Given the description of an element on the screen output the (x, y) to click on. 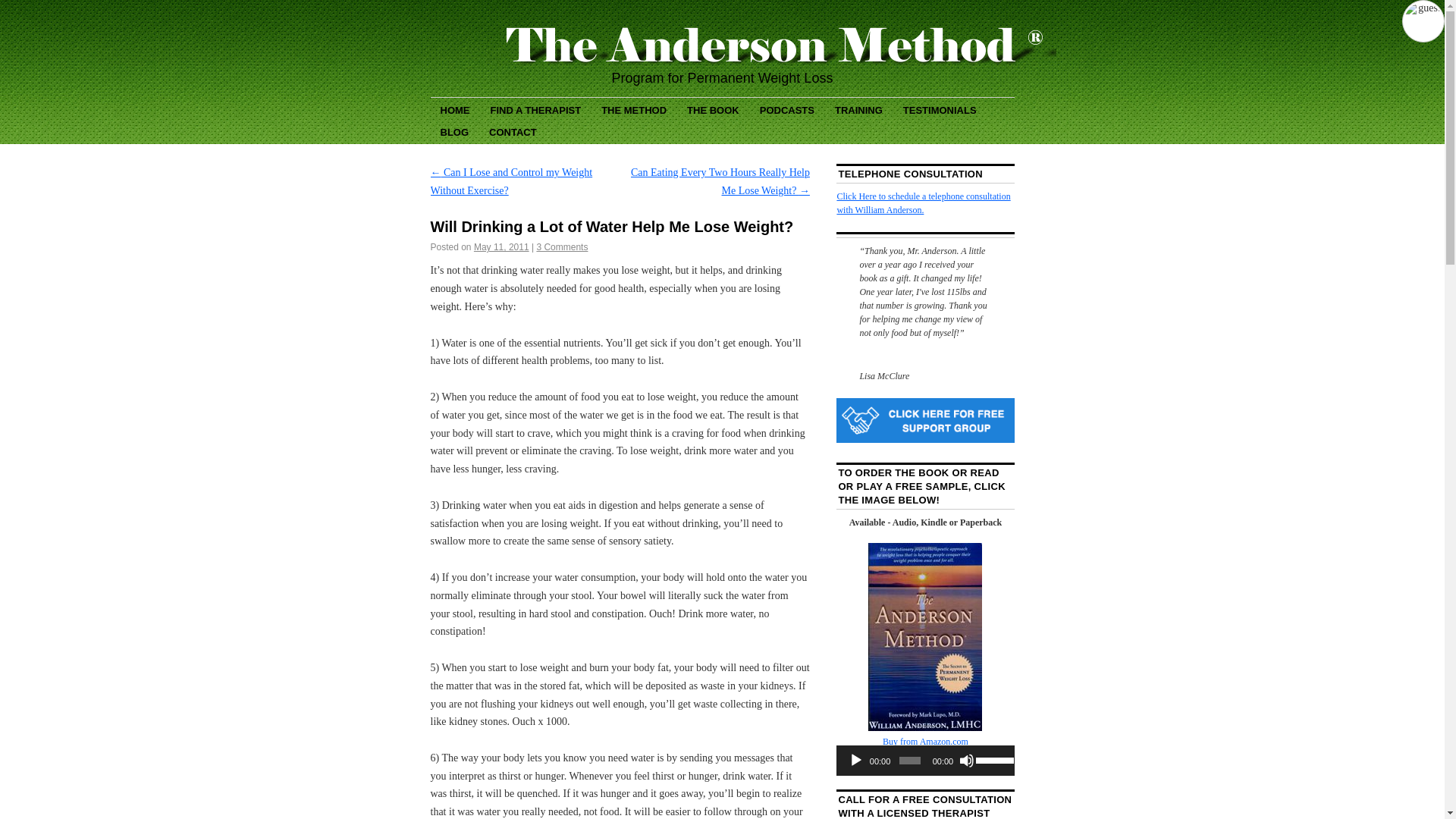
The Anderson Method (722, 43)
CONTACT (513, 131)
TRAINING (858, 109)
THE BOOK (713, 109)
HOME (455, 109)
3 Comments (561, 246)
FIND A THERAPIST (535, 109)
TESTIMONIALS (940, 109)
THE METHOD (634, 109)
9:38 am (501, 246)
PODCASTS (786, 109)
BLOG (454, 131)
May 11, 2011 (501, 246)
